Given the description of an element on the screen output the (x, y) to click on. 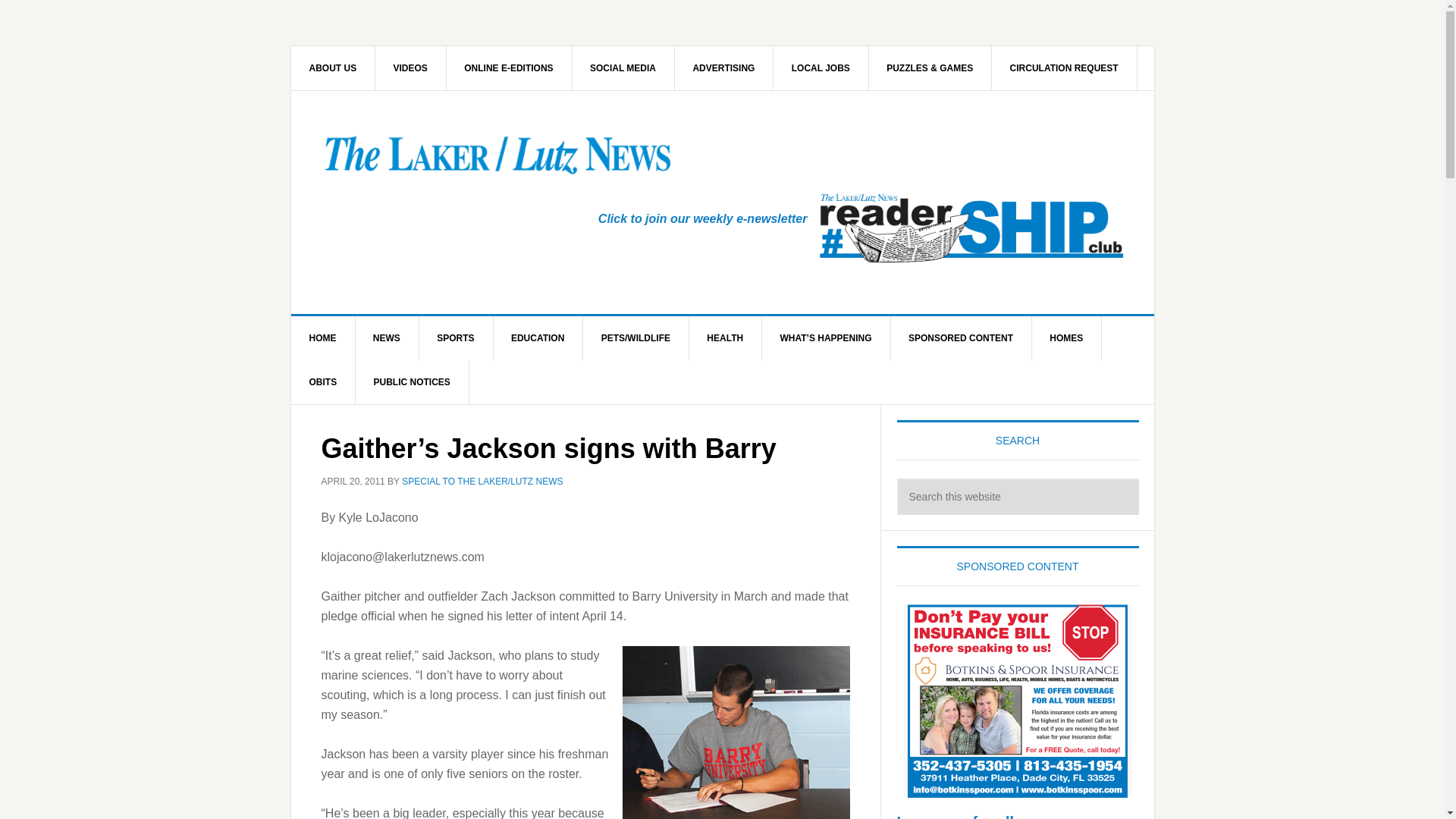
ADVERTISING (723, 67)
NEWS (387, 338)
ONLINE E-EDITIONS (508, 67)
HOME (323, 338)
LOCAL JOBS (821, 67)
Click to join our weekly e-newsletter (703, 218)
VIDEOS (410, 67)
SOCIAL MEDIA (623, 67)
Zack-Jackson-signs (734, 732)
